Given the description of an element on the screen output the (x, y) to click on. 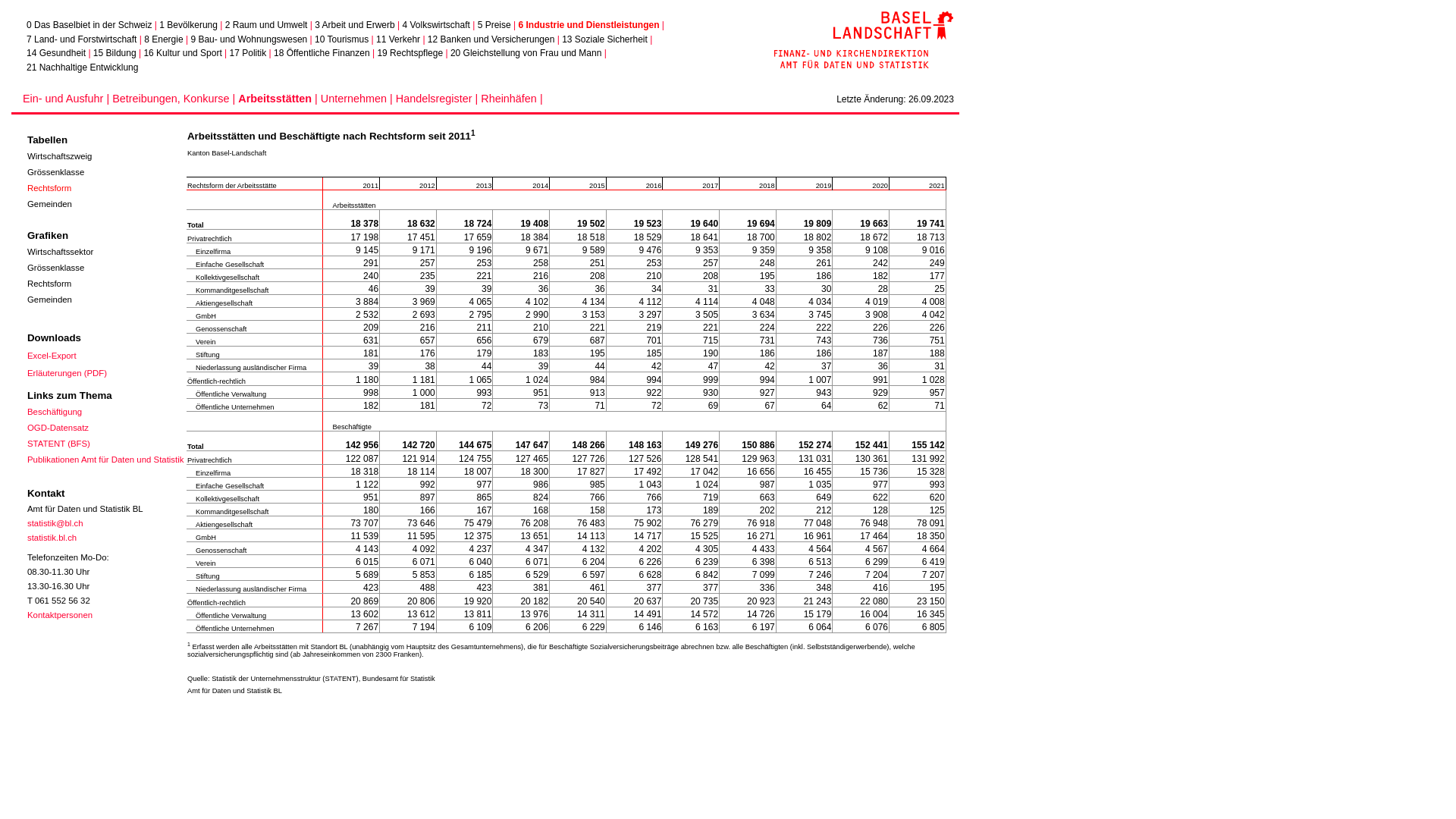
21 Nachhaltige Entwicklung Element type: text (82, 67)
statistik@bl.ch Element type: text (55, 522)
5 Preise Element type: text (494, 24)
13 Soziale Sicherheit Element type: text (604, 39)
17 Politik Element type: text (247, 52)
Gemeinden Element type: text (49, 203)
11 Verkehr Element type: text (398, 39)
4 Volkswirtschaft Element type: text (435, 24)
12 Banken und Versicherungen Element type: text (490, 39)
3 Arbeit und Erwerb Element type: text (354, 24)
statistik.bl.ch Element type: text (51, 537)
Ein- und Ausfuhr | Element type: text (67, 98)
Handelsregister | Element type: text (438, 98)
Wirtschaftssektor Element type: text (60, 251)
0 Das Baselbiet in der Schweiz Element type: text (88, 24)
20 Gleichstellung von Frau und Mann Element type: text (525, 52)
STATENT (BFS) Element type: text (58, 446)
Excel-Export Element type: text (51, 358)
Gemeinden Element type: text (49, 298)
Wirtschaftszweig Element type: text (59, 155)
15 Bildung Element type: text (114, 52)
2 Raum und Umwelt Element type: text (266, 24)
16 Kultur und Sport Element type: text (182, 52)
8 Energie Element type: text (163, 39)
Betreibungen, Konkurse | Element type: text (175, 98)
Kontaktpersonen Element type: text (59, 614)
7 Land- und Forstwirtschaft Element type: text (81, 39)
9 Bau- und Wohnungswesen Element type: text (248, 39)
19 Rechtspflege Element type: text (409, 52)
Rechtsform Element type: text (49, 283)
6 Industrie und Dienstleistungen Element type: text (587, 24)
10 Tourismus Element type: text (341, 39)
OGD-Datensatz Element type: text (57, 430)
14 Gesundheit Element type: text (55, 52)
Rechtsform Element type: text (49, 187)
Unternehmen | Element type: text (357, 98)
